Given the description of an element on the screen output the (x, y) to click on. 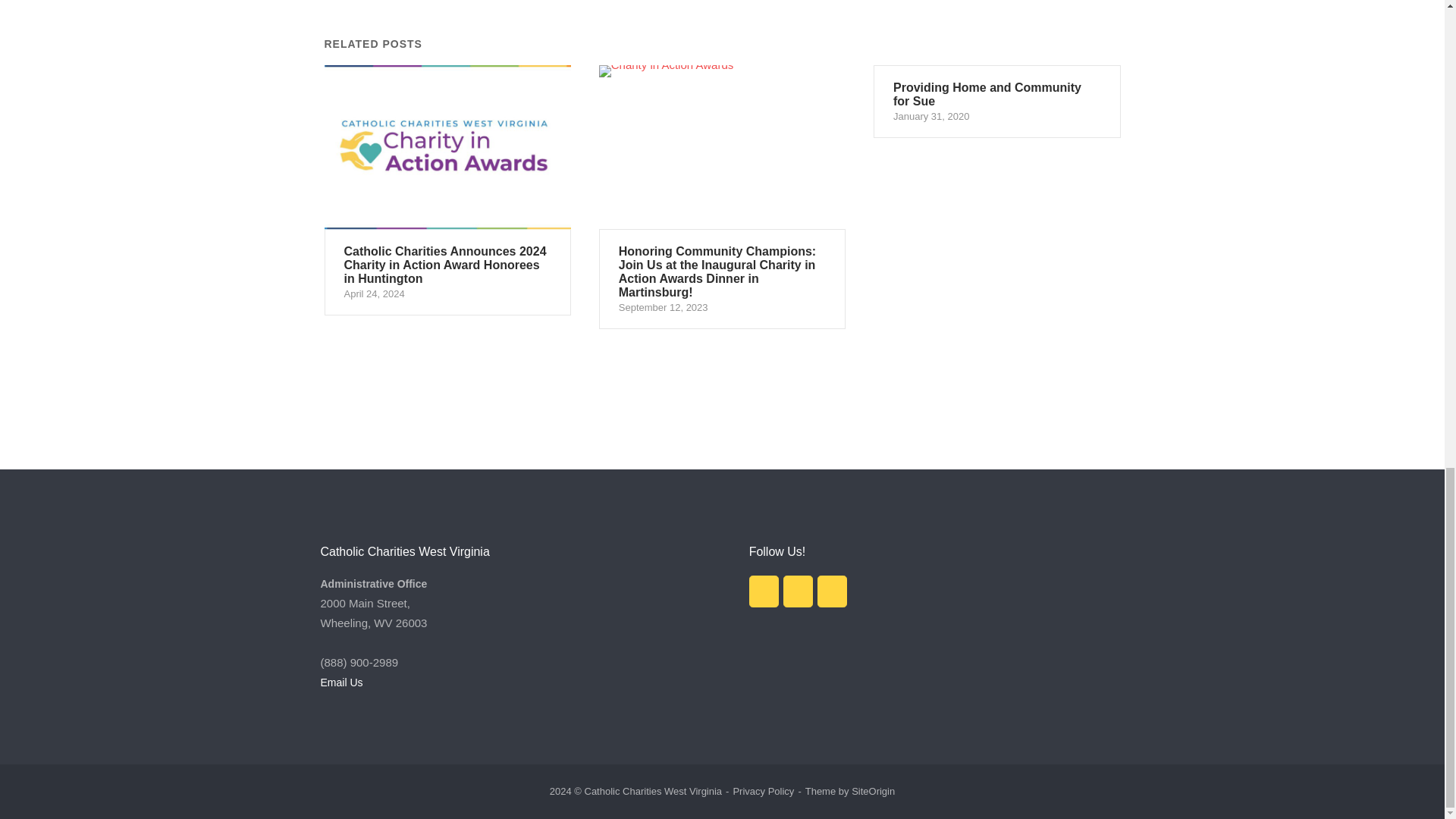
Catholic Charities West Virginia on Linkedin (797, 591)
Providing Home and Community for Sue (997, 101)
Catholic Charities West Virginia on Facebook (763, 591)
Catholic Charities West Virginia on Youtube (831, 591)
